Given the description of an element on the screen output the (x, y) to click on. 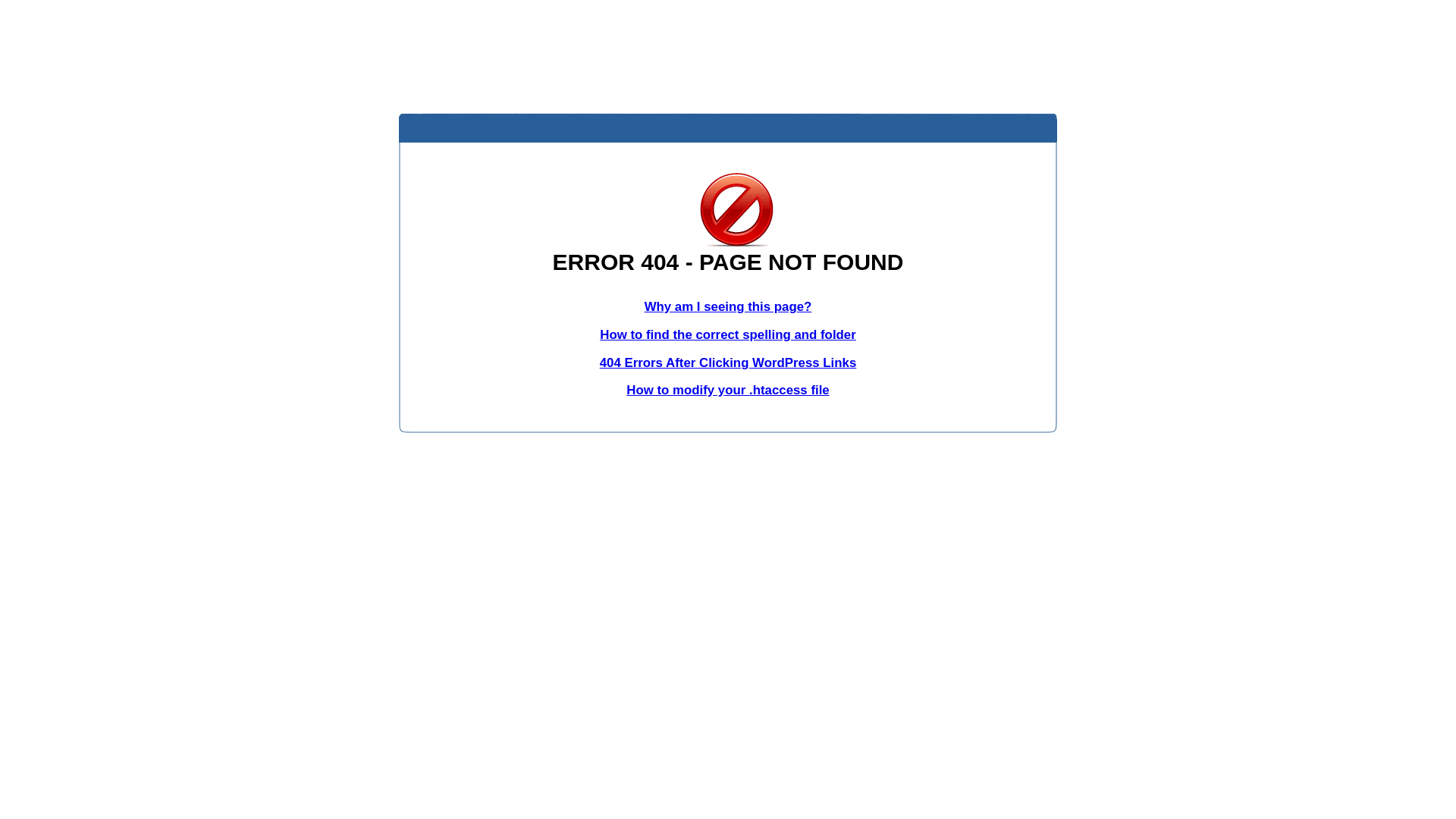
Why am I seeing this page? Element type: text (728, 306)
How to find the correct spelling and folder Element type: text (727, 334)
How to modify your .htaccess file Element type: text (727, 389)
404 Errors After Clicking WordPress Links Element type: text (727, 362)
